Given the description of an element on the screen output the (x, y) to click on. 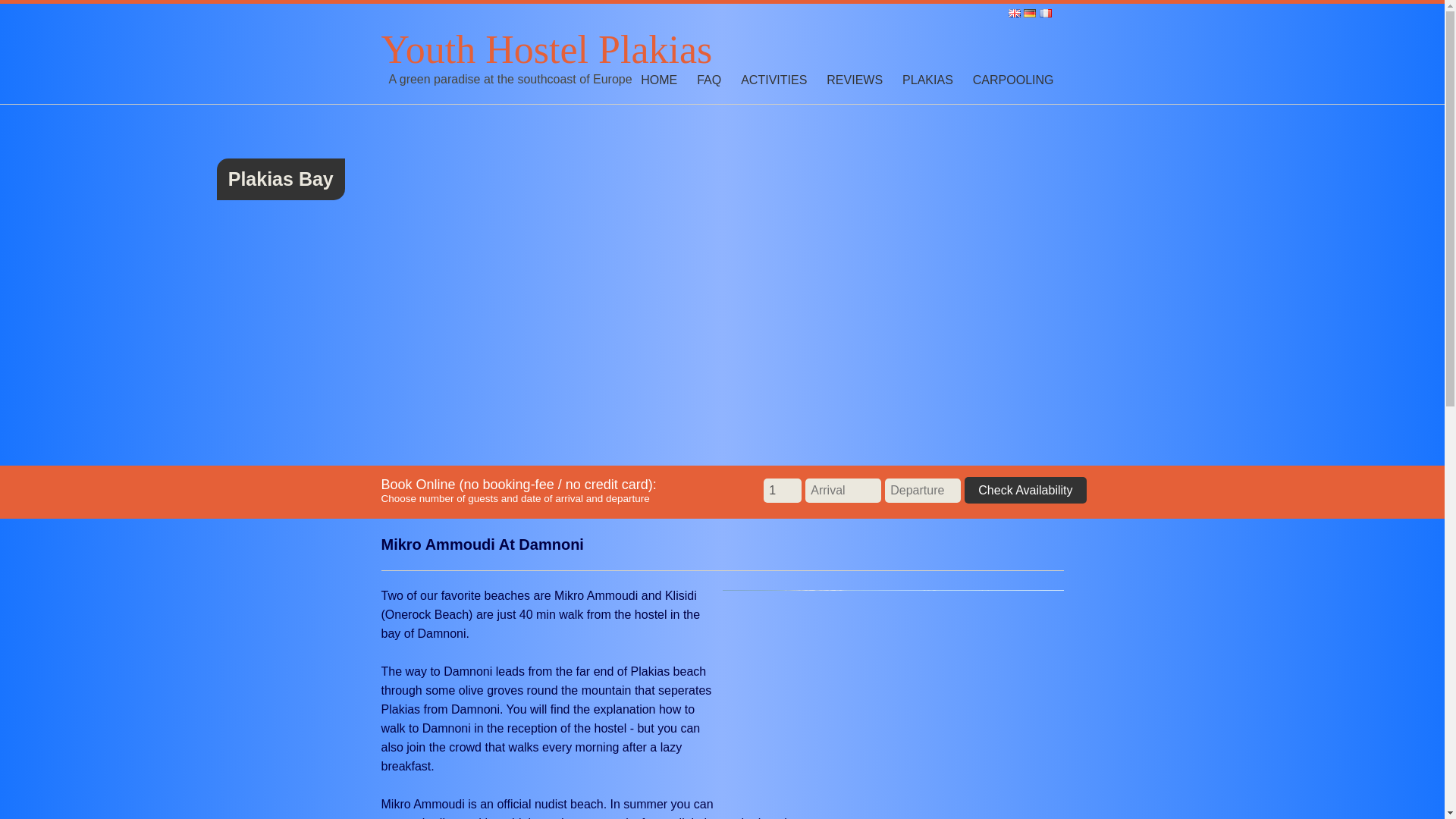
ACTIVITIES (773, 79)
Check Availability (1024, 489)
HOME (658, 79)
CARPOOLING (1013, 79)
REVIEWS (854, 79)
PLAKIAS (927, 79)
1 (782, 490)
FAQ (708, 79)
Check Availability (1024, 489)
